Given the description of an element on the screen output the (x, y) to click on. 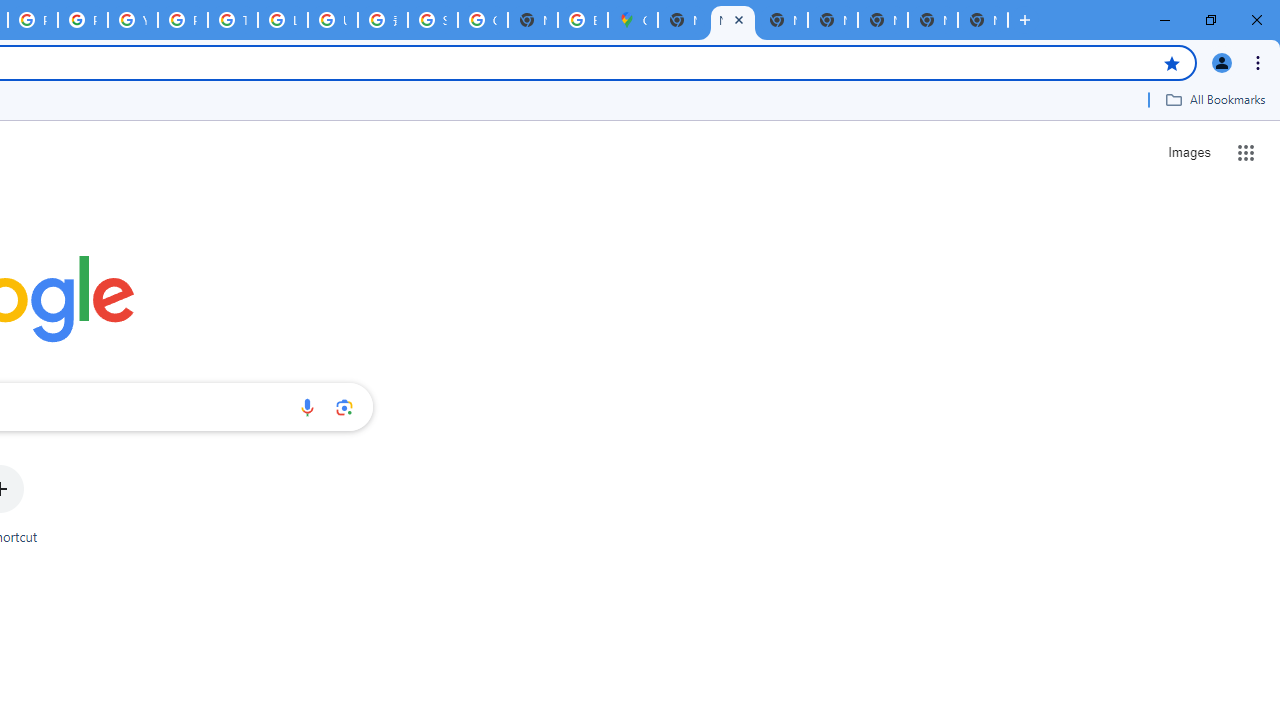
YouTube (132, 20)
New Tab (682, 20)
